Given the description of an element on the screen output the (x, y) to click on. 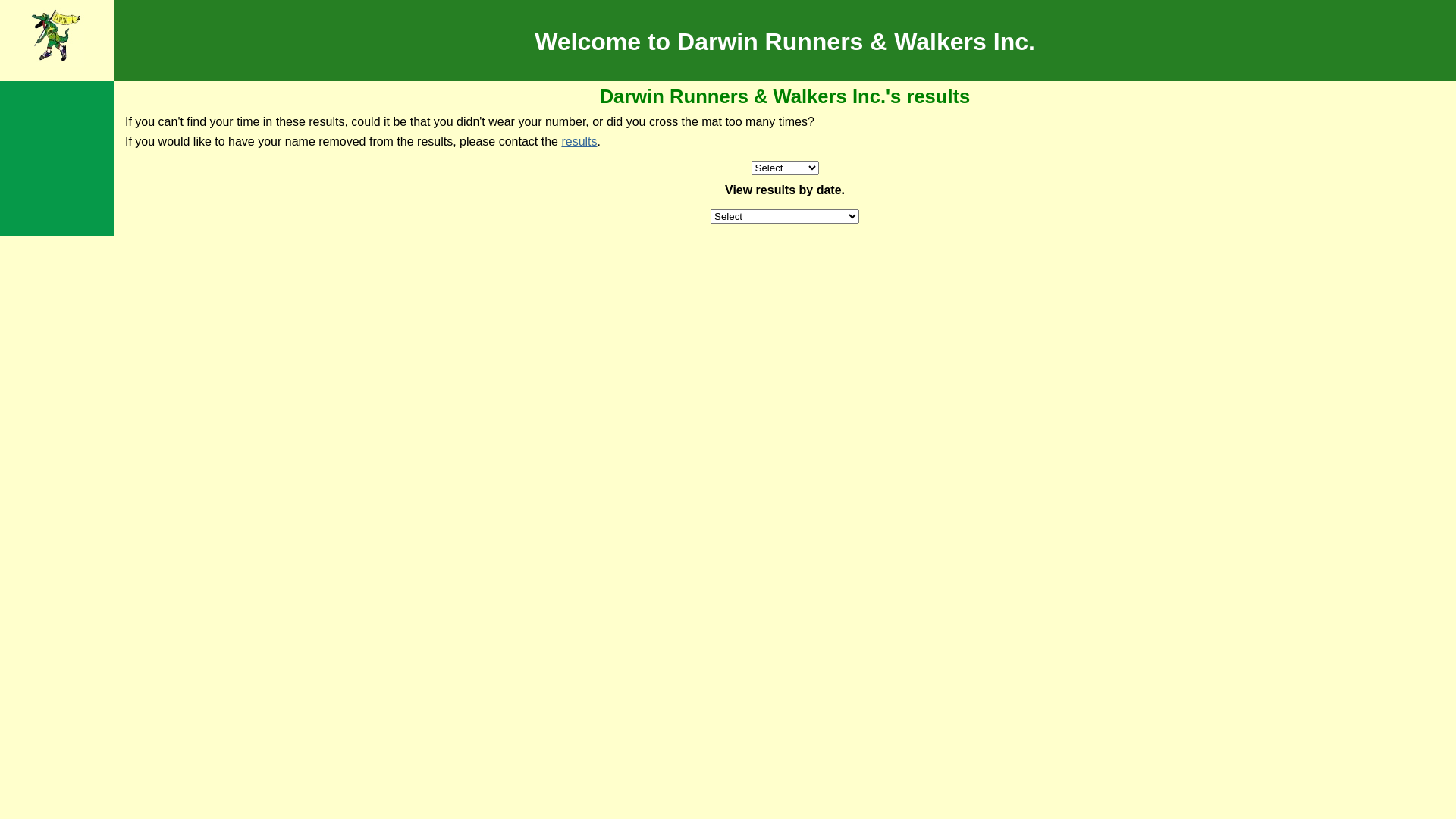
results Element type: text (578, 140)
